Given the description of an element on the screen output the (x, y) to click on. 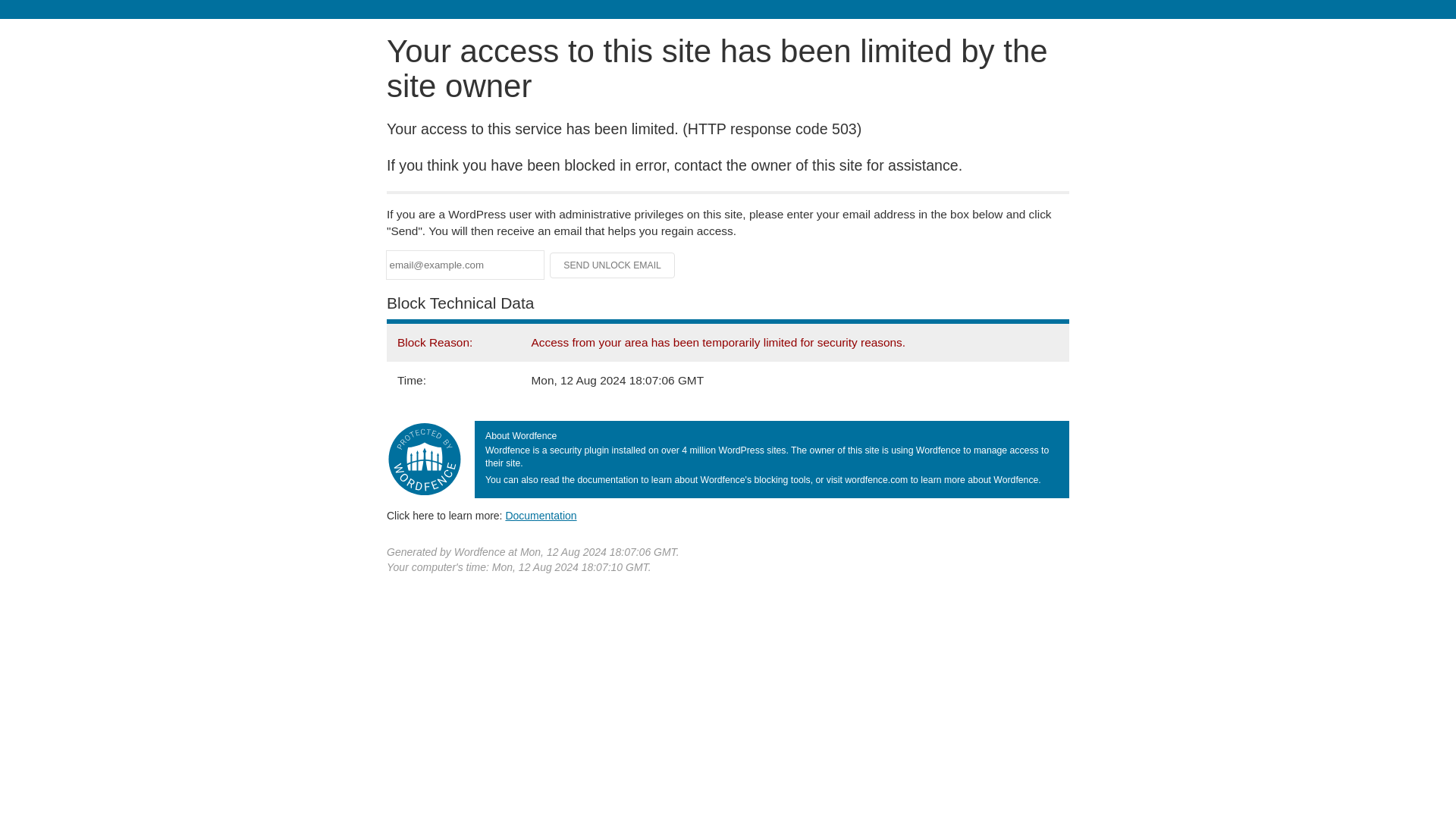
Send Unlock Email (612, 265)
Send Unlock Email (612, 265)
Documentation (540, 515)
